Given the description of an element on the screen output the (x, y) to click on. 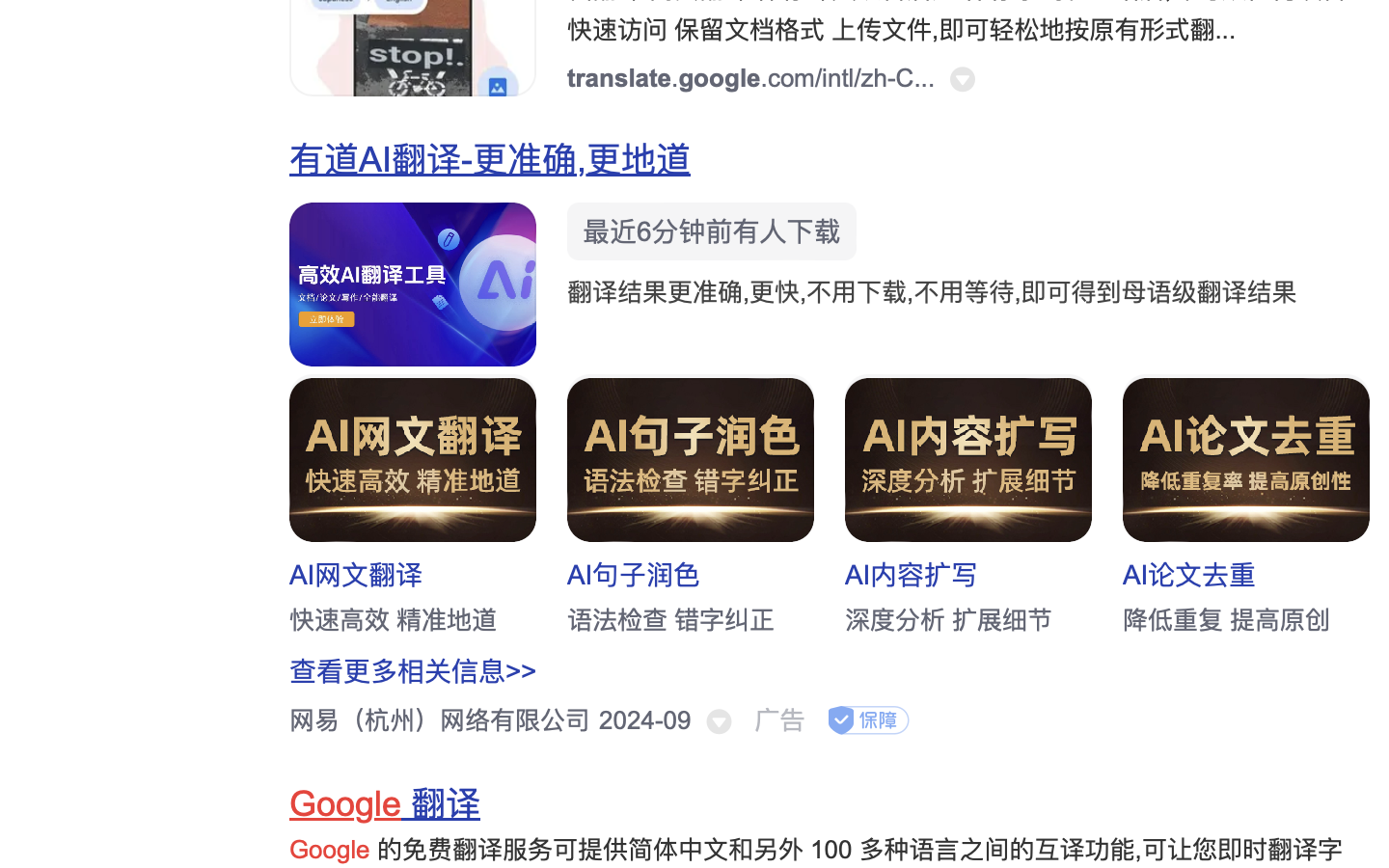
有道AI翻译-更准确,更地道 Element type: AXStaticText (490, 159)
 Element type: AXStaticText (719, 721)
最近6分钟前有人下载 Element type: AXStaticText (711, 231)
Google Element type: AXStaticText (346, 804)
降低重复 提高原创 Element type: AXStaticText (1226, 619)
